Given the description of an element on the screen output the (x, y) to click on. 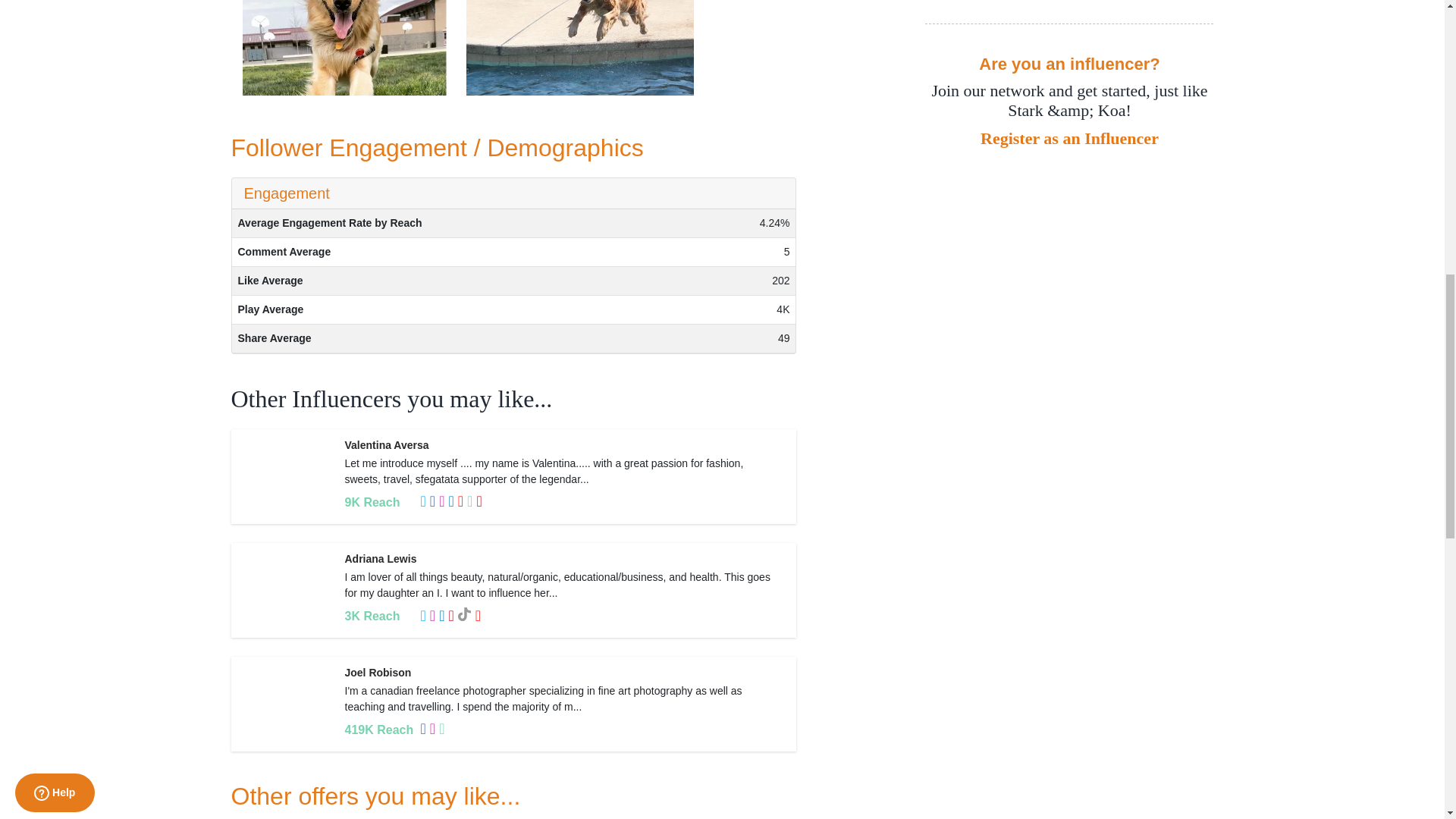
Valentina Aversa (385, 444)
Register as an Influencer (1068, 138)
Adriana Lewis (379, 558)
Joel Robison (376, 672)
